Given the description of an element on the screen output the (x, y) to click on. 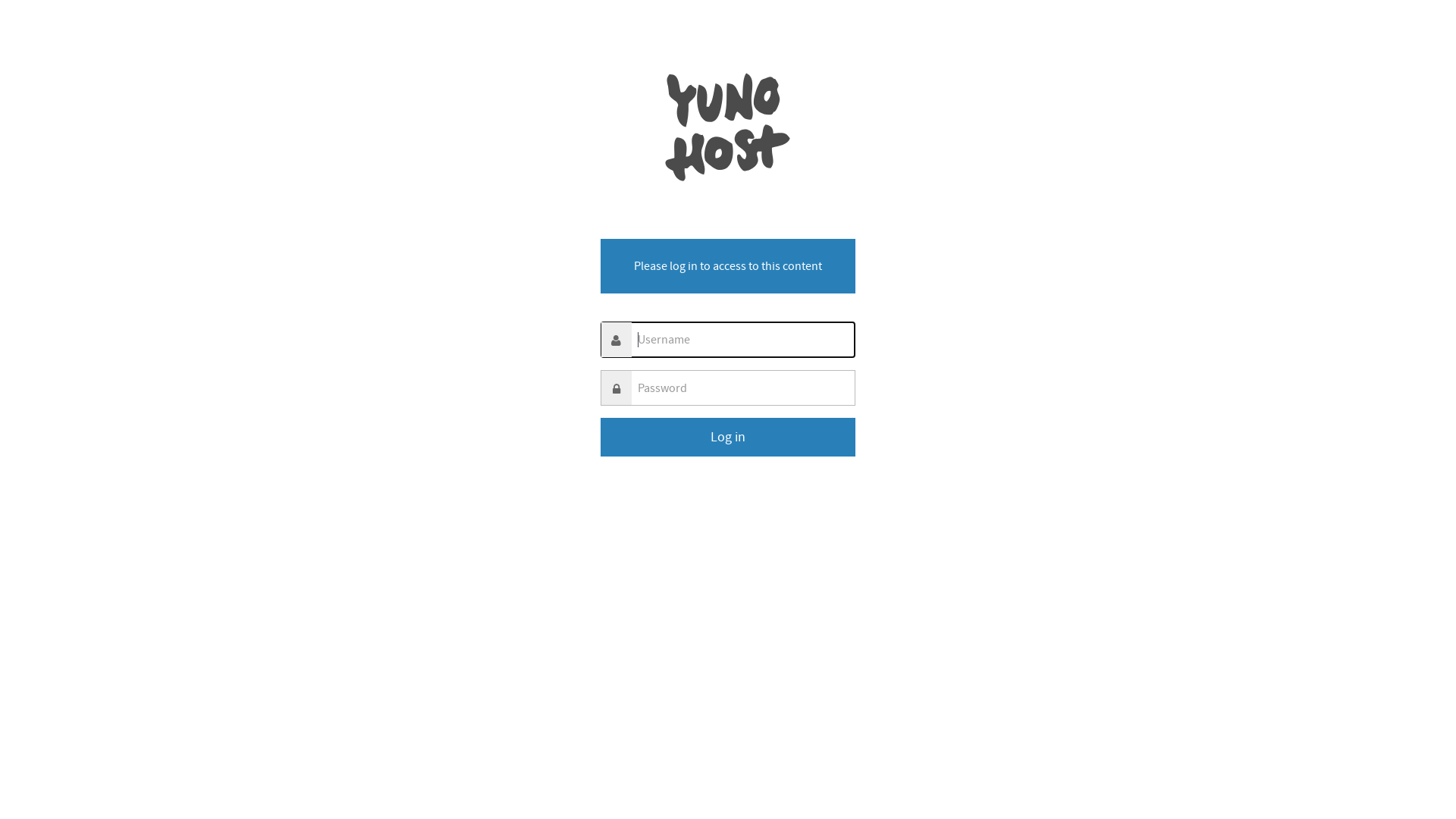
Log in Element type: text (727, 436)
